Given the description of an element on the screen output the (x, y) to click on. 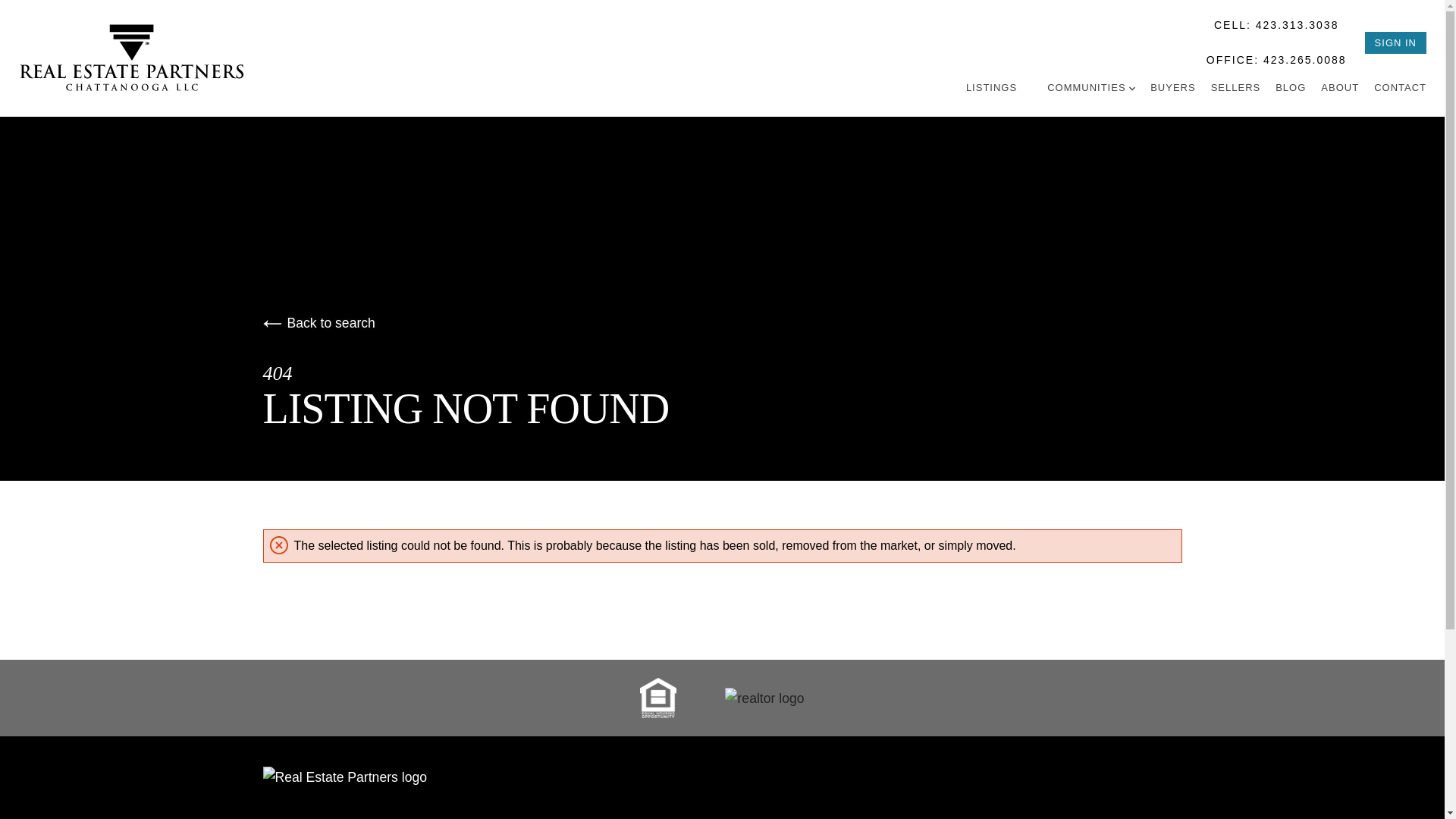
OFFICE: 423.265.0088 (1276, 59)
BUYERS (1172, 86)
CELL: 423.313.3038 (1276, 24)
SIGN IN (1395, 42)
COMMUNITIES DROPDOWN ARROW (1090, 86)
CONTACT (1400, 86)
ABOUT (1339, 86)
BLOG (1290, 86)
DROPDOWN ARROW (1132, 88)
LISTINGS (991, 86)
SELLERS (1235, 86)
